Given the description of an element on the screen output the (x, y) to click on. 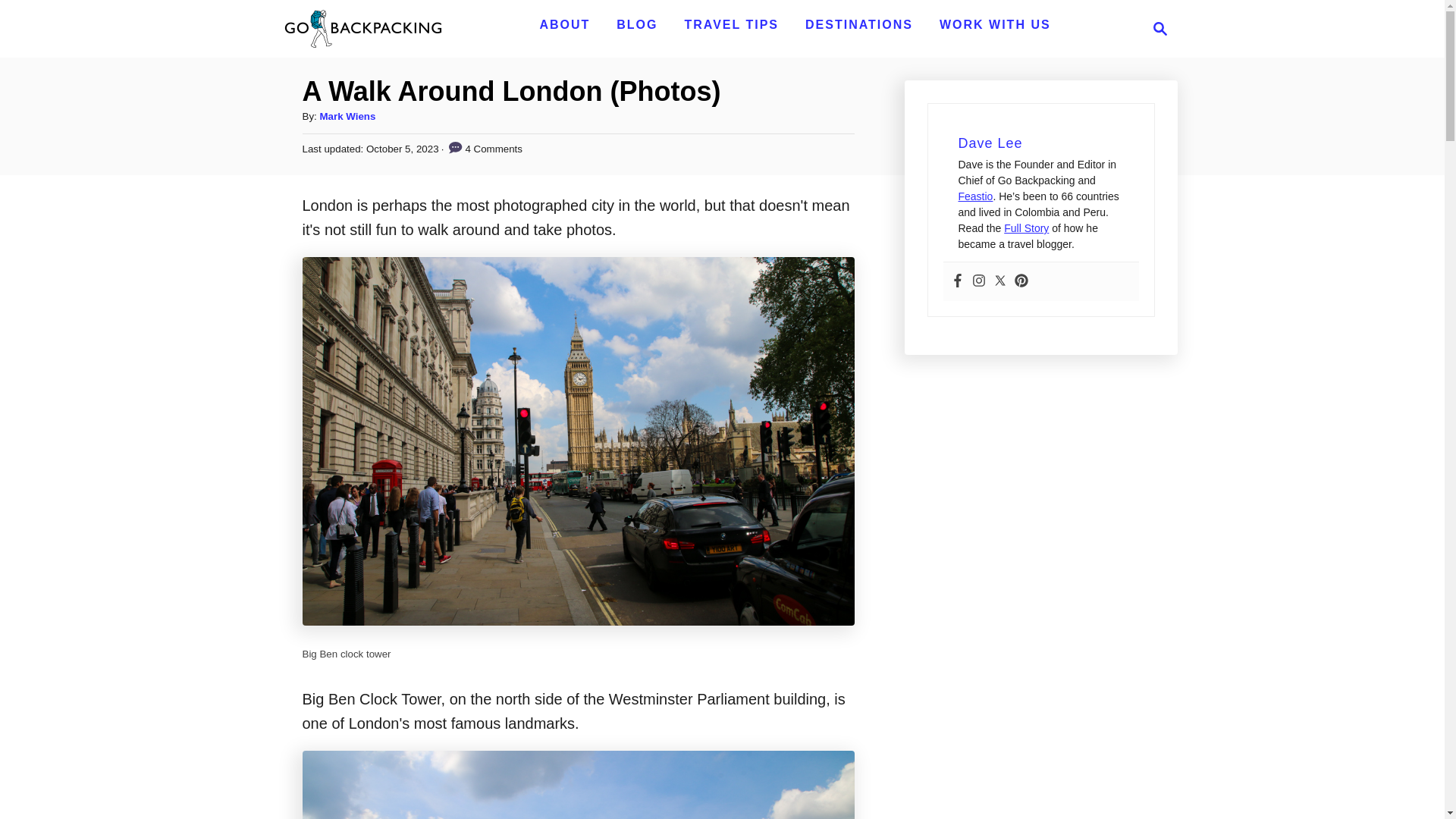
Blog (1155, 28)
About (636, 24)
ABOUT (563, 24)
BLOG (563, 24)
DESTINATIONS (636, 24)
Travel Tips (858, 24)
Magnifying Glass (731, 24)
Destinations (1160, 28)
TRAVEL TIPS (858, 24)
